Given the description of an element on the screen output the (x, y) to click on. 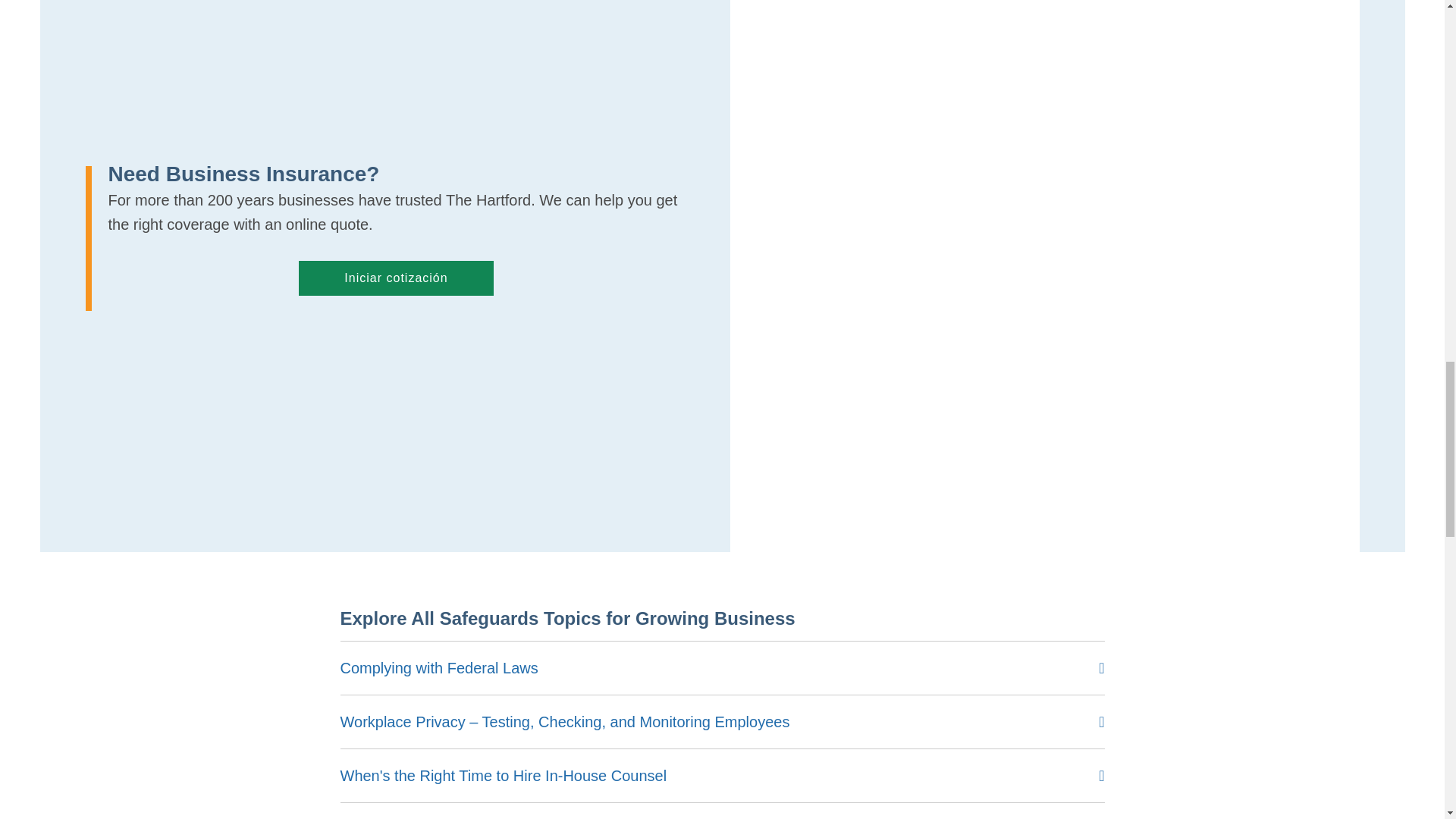
Complying with Federal Laws (438, 668)
